Given the description of an element on the screen output the (x, y) to click on. 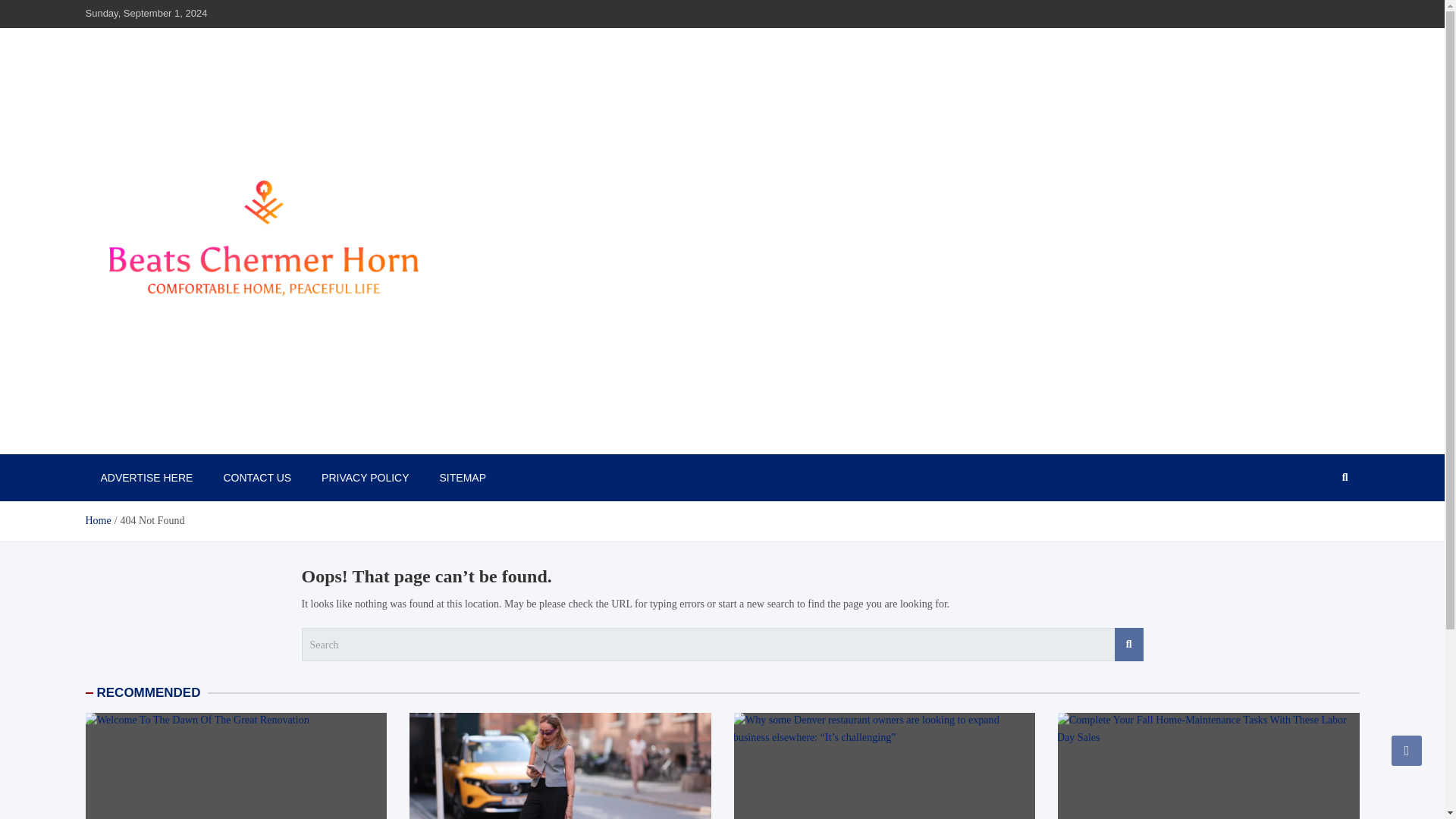
CONTACT US (256, 477)
Home (97, 520)
Go to Top (1406, 750)
ADVERTISE HERE (146, 477)
Beats Chermer Horn (193, 437)
Best Labor Day Clothing Sales 2024 (559, 765)
Welcome To The Dawn Of The Great Renovation (234, 765)
RECOMMENDED (148, 692)
SITEMAP (462, 477)
